Given the description of an element on the screen output the (x, y) to click on. 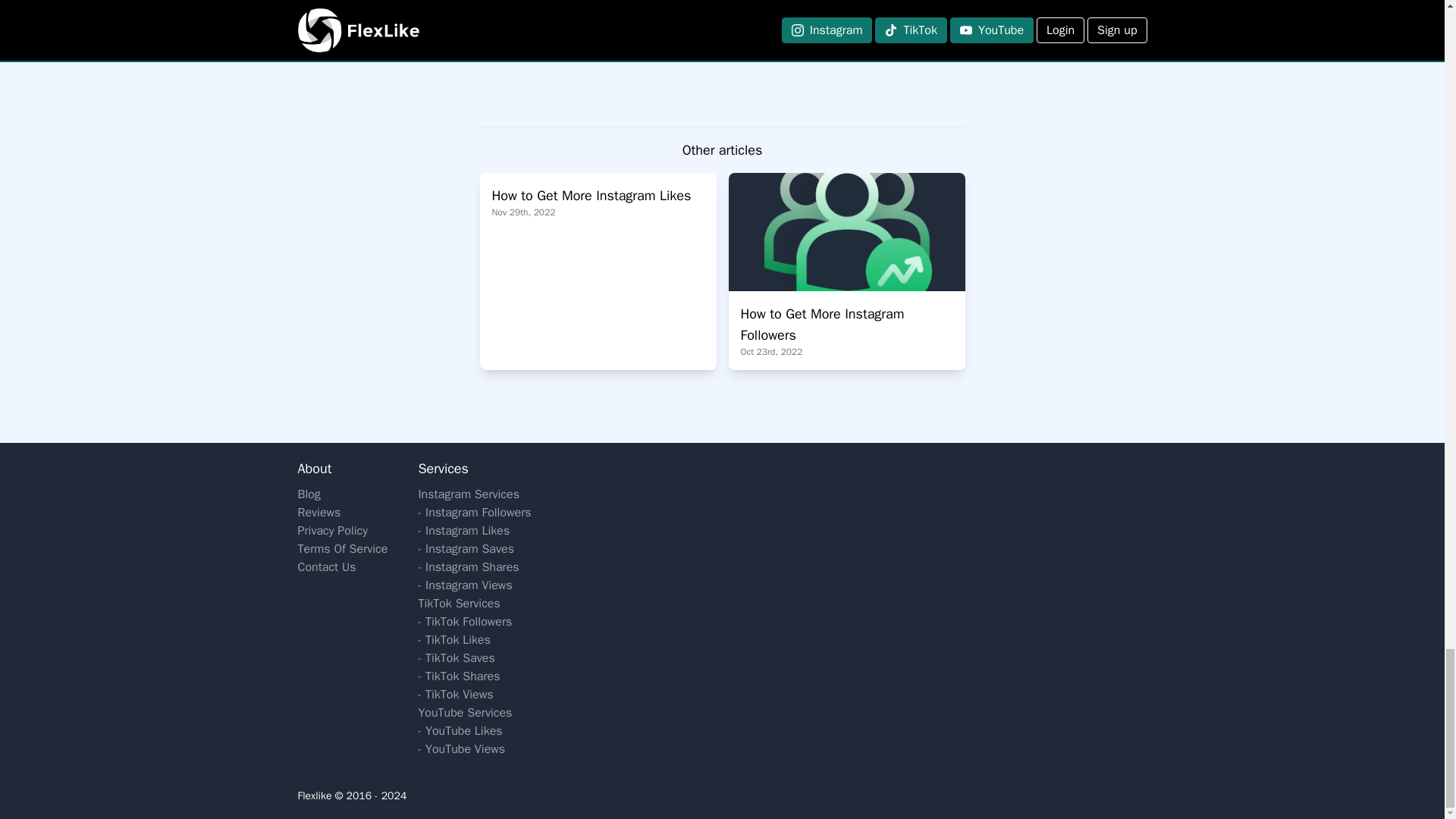
- TikTok Saves (474, 658)
- Instagram Likes (474, 530)
Instagram Services (474, 494)
- Instagram Followers (474, 512)
Reviews (342, 512)
- Instagram Views (474, 585)
- Instagram Shares (474, 566)
TikTok Services (474, 603)
Terms Of Service (845, 271)
